Given the description of an element on the screen output the (x, y) to click on. 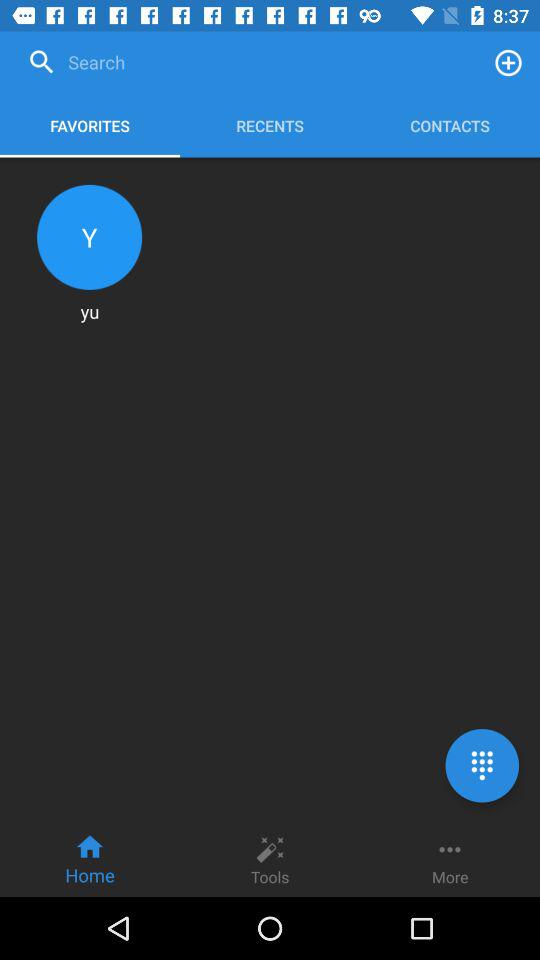
add contact (508, 62)
